Given the description of an element on the screen output the (x, y) to click on. 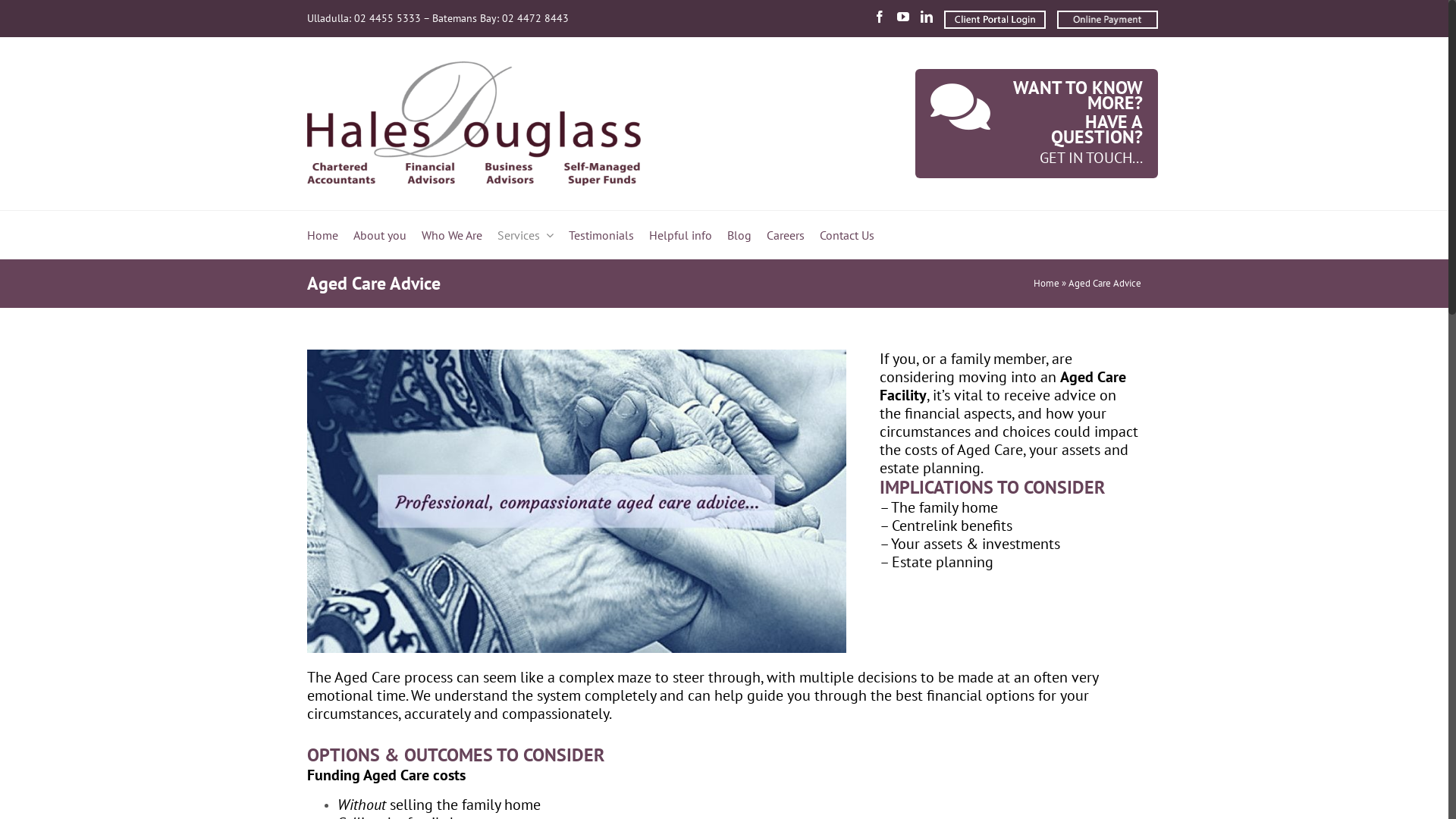
YouTube Element type: hover (903, 16)
Careers Element type: text (785, 234)
About you Element type: text (379, 234)
Blog Element type: text (739, 234)
Home Element type: text (322, 234)
Who We Are Element type: text (451, 234)
WANT TO KNOW MORE?
HAVE A QUESTION?
GET IN TOUCH... Element type: text (940, 123)
LinkedIn Element type: hover (926, 16)
Facebook Element type: hover (879, 16)
Services Element type: text (518, 234)
Contact Us Element type: text (846, 234)
Home Element type: text (1046, 282)
Helpful info Element type: text (680, 234)
Testimonials Element type: text (600, 234)
Hales Douglass Element type: hover (473, 123)
